Given the description of an element on the screen output the (x, y) to click on. 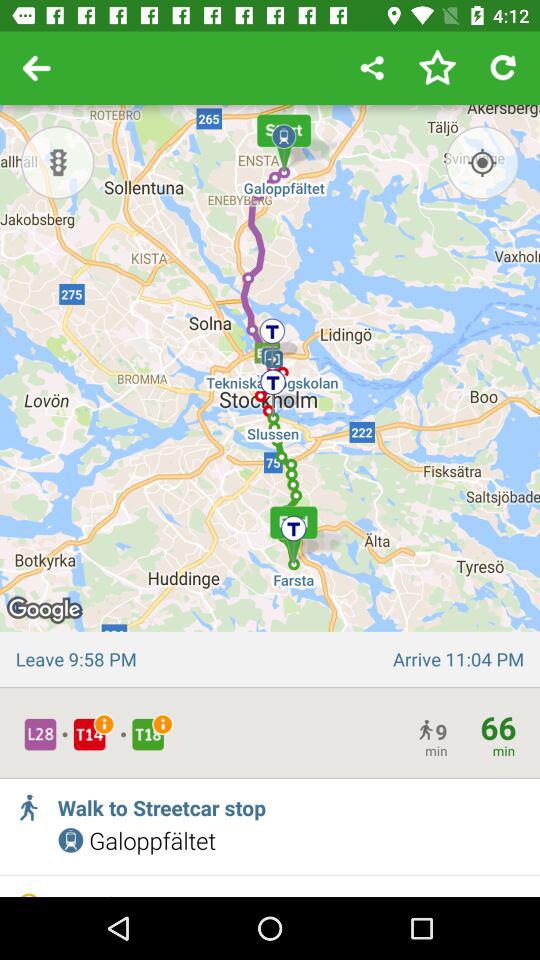
get directions (482, 162)
